Given the description of an element on the screen output the (x, y) to click on. 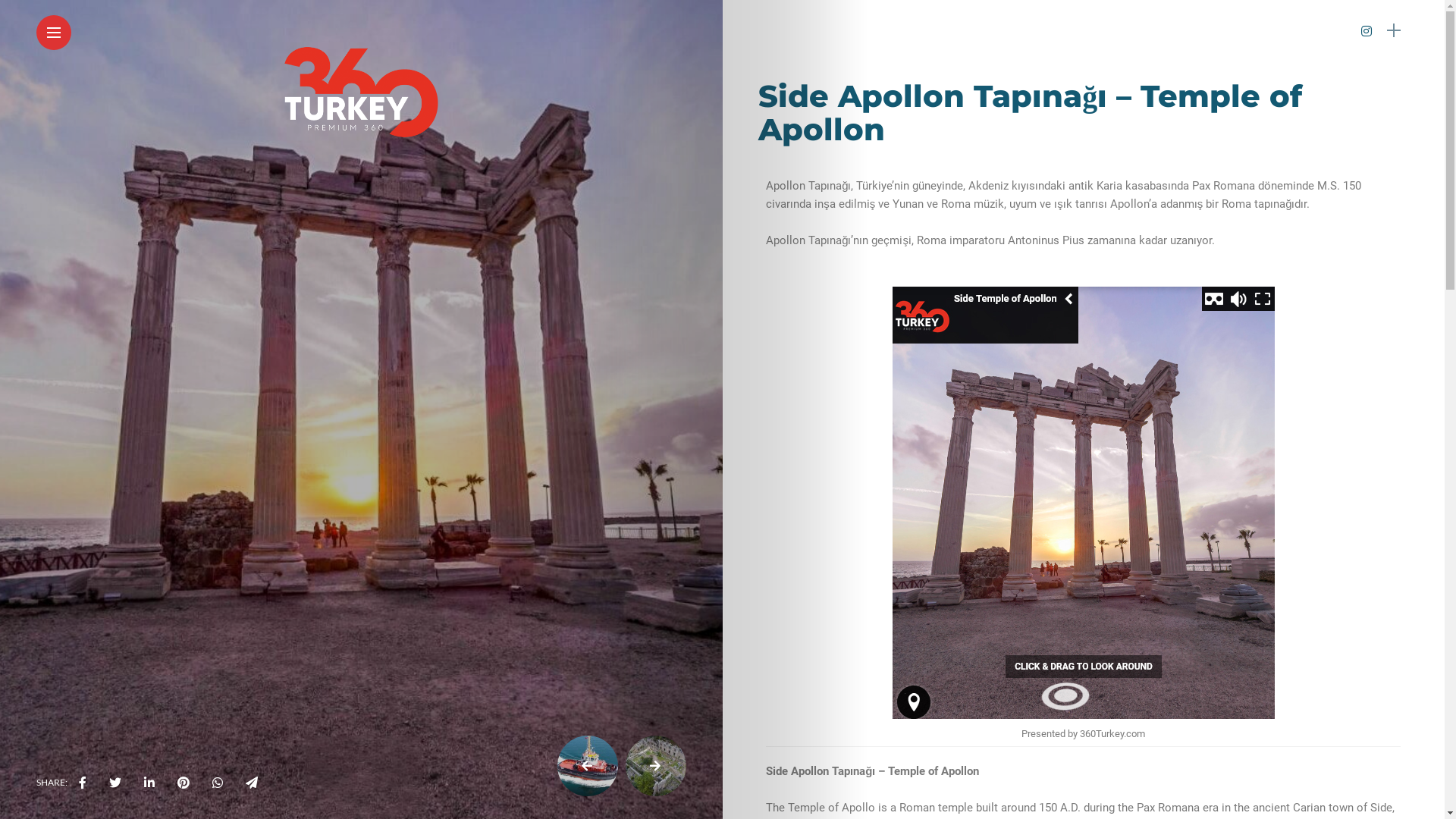
twitter&via= Element type: hover (115, 782)
pinterest Element type: hover (183, 782)
facebook Element type: hover (82, 782)
